Given the description of an element on the screen output the (x, y) to click on. 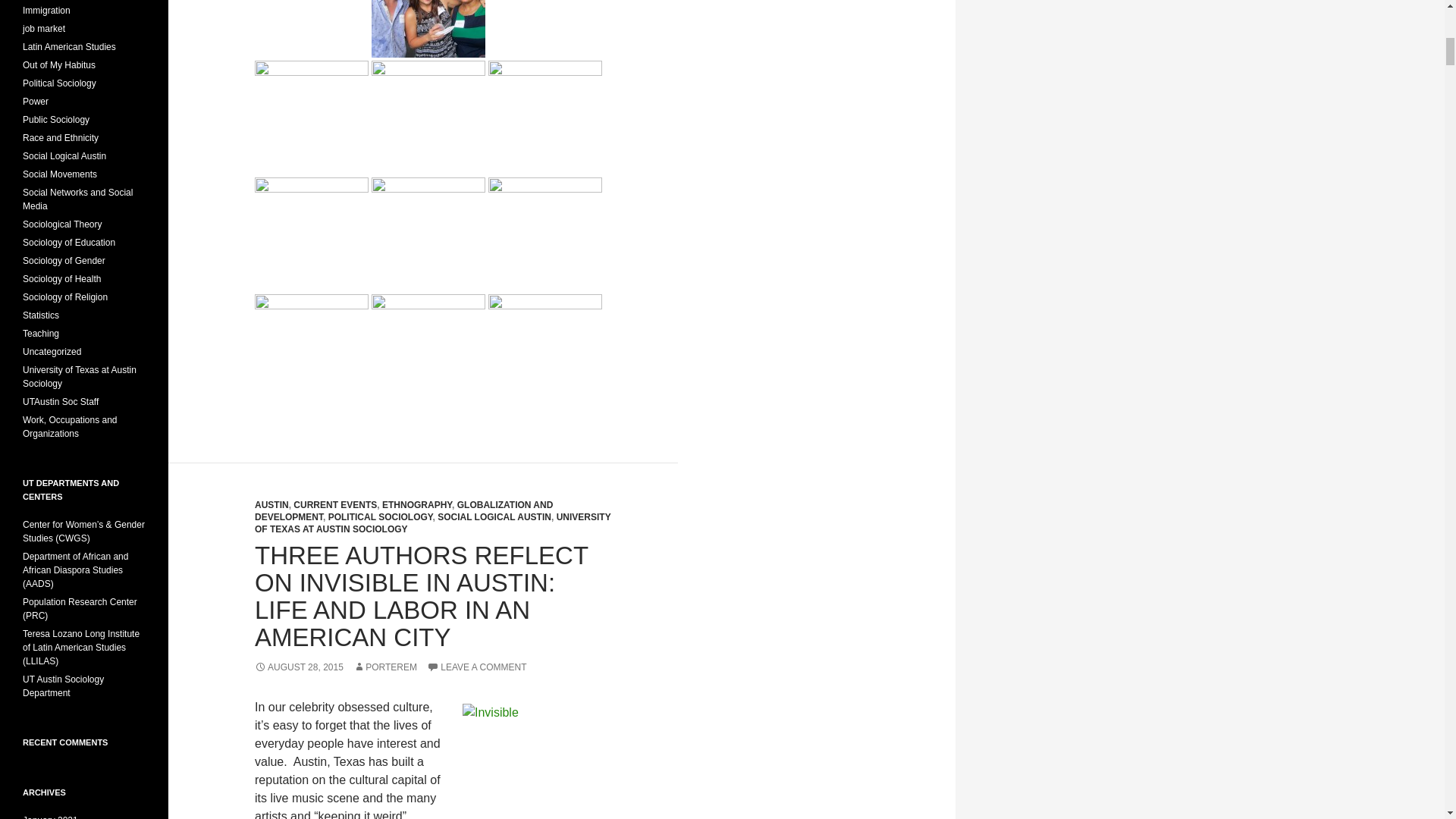
CURRENT EVENTS (335, 504)
SOCIAL LOGICAL AUSTIN (494, 516)
ETHNOGRAPHY (416, 504)
POLITICAL SOCIOLOGY (380, 516)
GLOBALIZATION AND DEVELOPMENT (403, 510)
AUSTIN (271, 504)
